Given the description of an element on the screen output the (x, y) to click on. 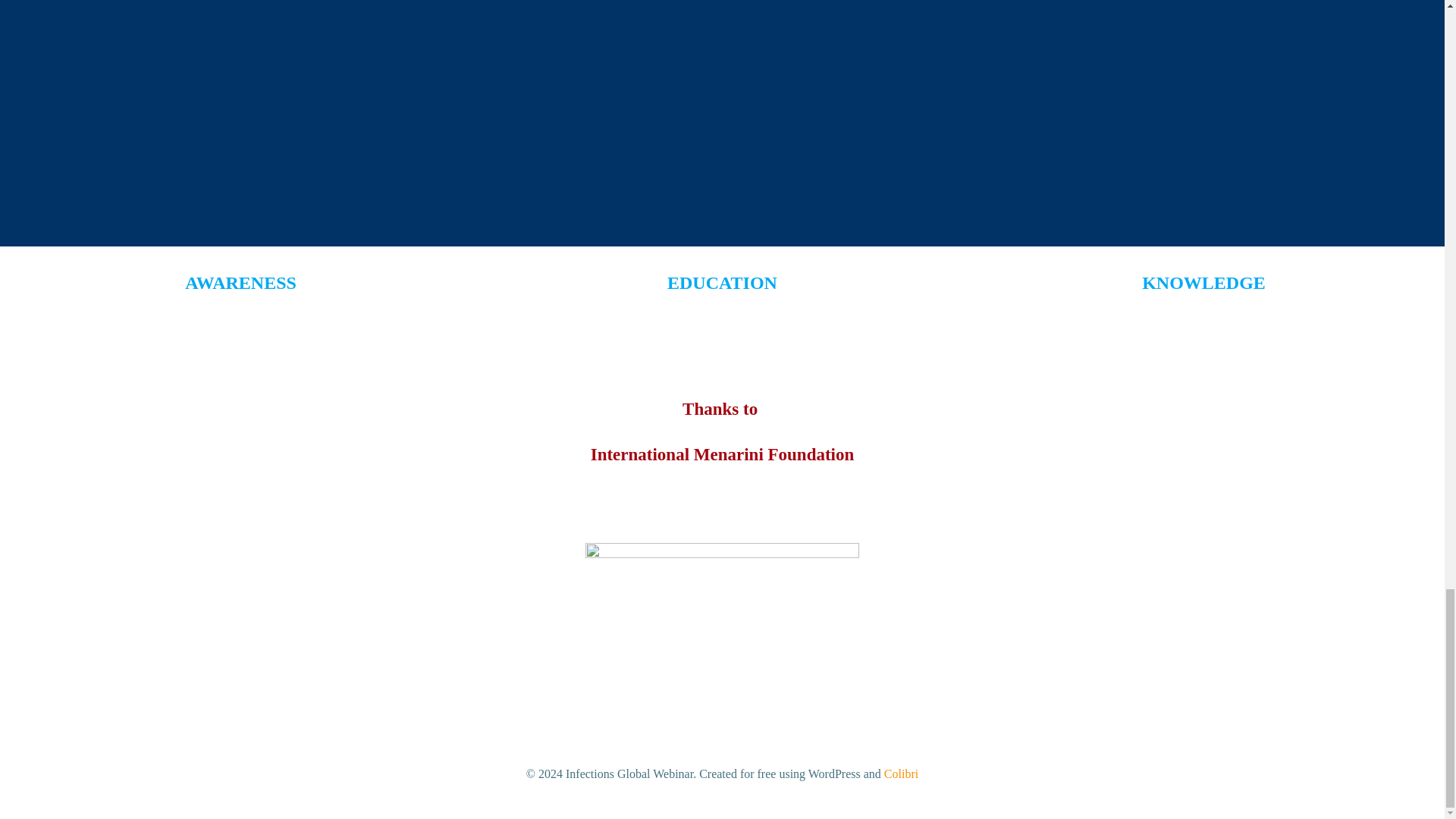
Colibri (900, 773)
